Given the description of an element on the screen output the (x, y) to click on. 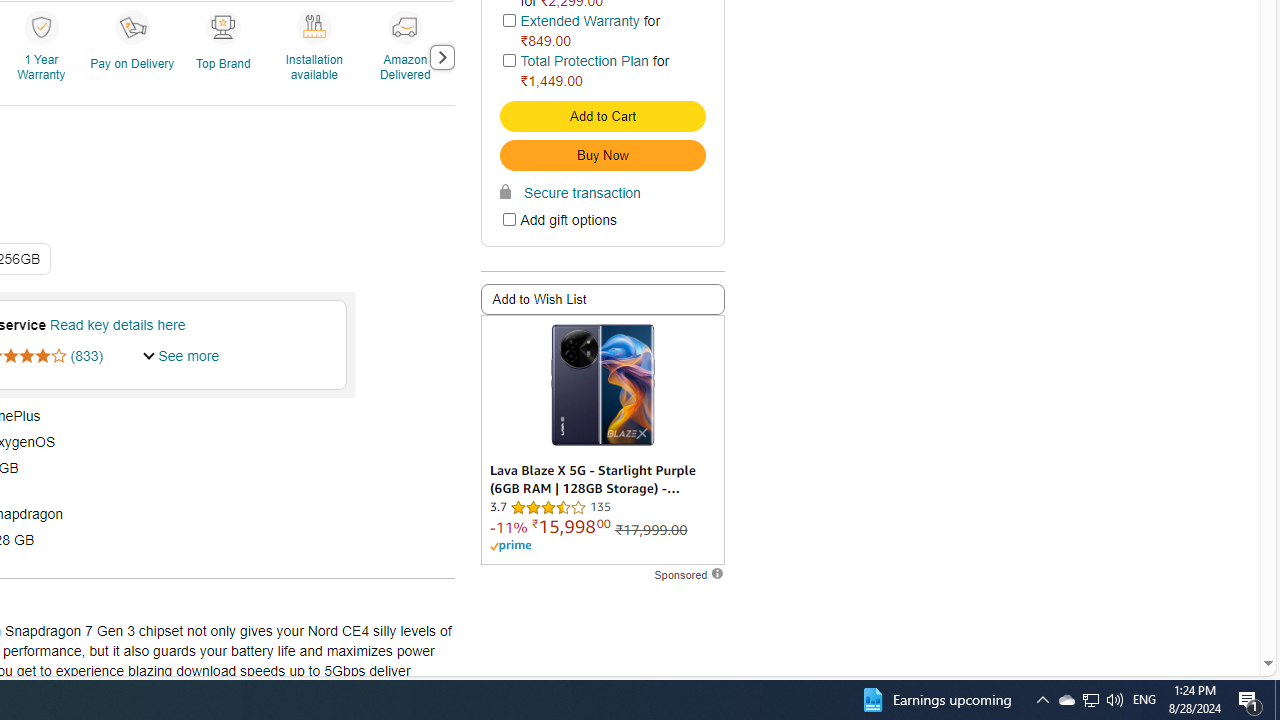
Add to Wish List (602, 300)
Pay on Delivery (131, 26)
Installation available (317, 56)
Top Brand (222, 26)
Extended Warranty (579, 20)
Total Protection Plan (583, 61)
Add to Cart (602, 116)
Secure transaction (570, 192)
Add gift options (508, 219)
Top Brand (225, 56)
1 Year Warranty (40, 26)
Amazon Delivered (408, 56)
Installation available  (313, 26)
